Given the description of an element on the screen output the (x, y) to click on. 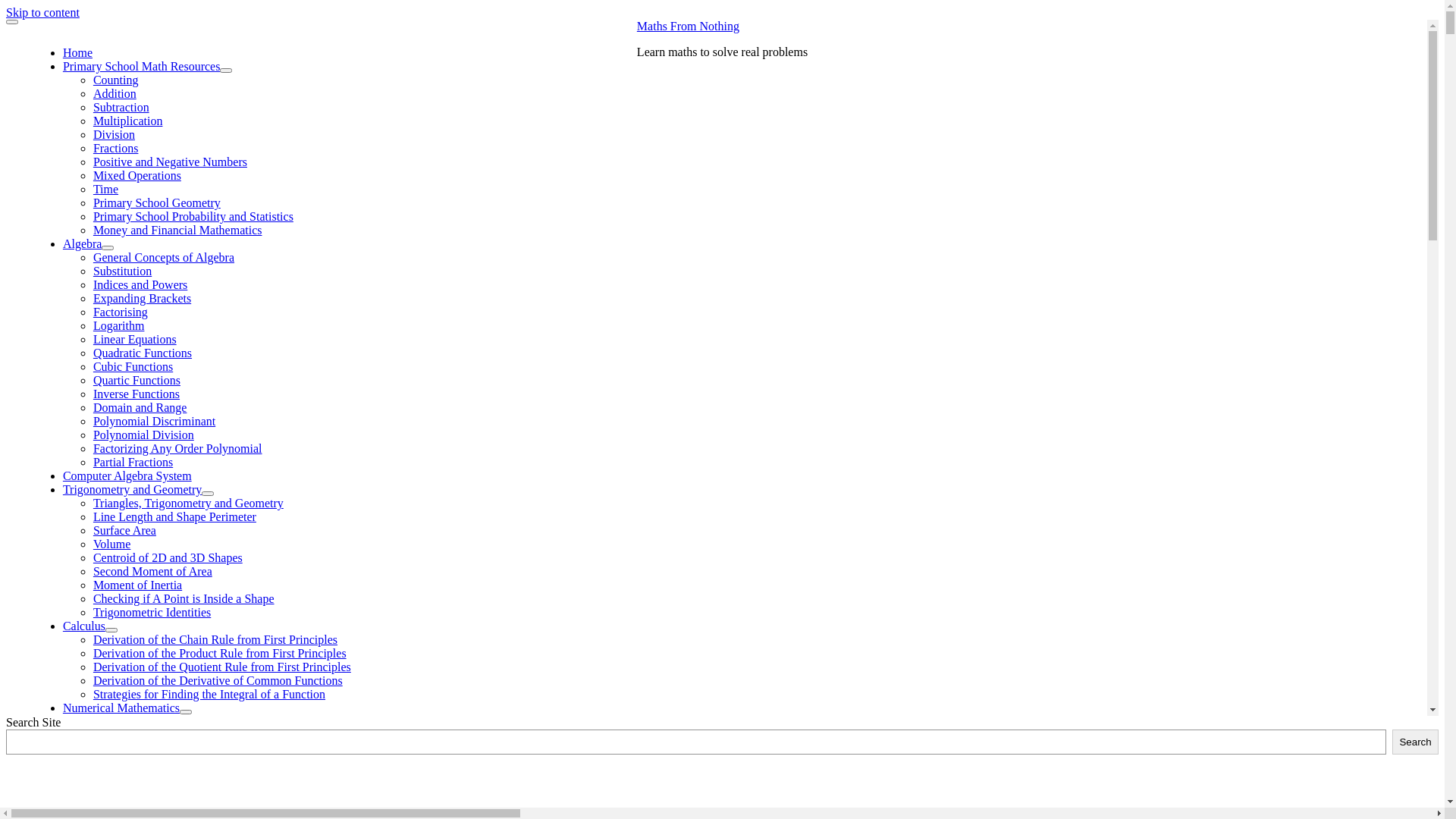
open child menu Element type: text (225, 70)
Derivation of the Product Rule from First Principles Element type: text (219, 652)
Surface Area Element type: text (124, 530)
Secant and Quasi-Newton methods Element type: text (208, 748)
Trigonometric Identities Element type: text (151, 611)
Factorising Element type: text (120, 311)
open child menu Element type: text (111, 629)
Regula Falsi or False Position Method Element type: text (216, 803)
Multiplication Element type: text (128, 120)
Counting Element type: text (115, 79)
Primary School Geometry Element type: text (156, 202)
Moment of Inertia Element type: text (137, 584)
Search Element type: text (1415, 741)
open child menu Element type: text (185, 711)
Triangles, Trigonometry and Geometry Element type: text (188, 502)
open child menu Element type: text (263, 725)
Expanding Brackets Element type: text (142, 297)
Derivation of the Derivative of Common Functions Element type: text (217, 680)
Derivation of the Quotient Rule from First Principles Element type: text (222, 666)
Factorizing Any Order Polynomial Element type: text (177, 448)
Fixed Point Iteration Element type: text (173, 775)
Logarithm Element type: text (118, 325)
open primary menu Element type: text (12, 21)
Cubic Functions Element type: text (132, 366)
open child menu Element type: text (107, 247)
Substitution Element type: text (122, 270)
Mixed Operations Element type: text (137, 175)
Money and Financial Mathematics Element type: text (177, 229)
Primary School Math Resources Element type: text (141, 65)
Positive and Negative Numbers Element type: text (170, 161)
Indices and Powers Element type: text (140, 284)
Quartic Functions Element type: text (136, 379)
Computer Algebra System Element type: text (126, 475)
Bisection Method Element type: text (166, 789)
Line Search for Root Finding Methods Element type: text (217, 762)
Partial Fractions Element type: text (132, 461)
Numerical Root Finding Methods Element type: text (175, 721)
Checking if A Point is Inside a Shape Element type: text (183, 598)
Quadratic Functions Element type: text (142, 352)
Line Length and Shape Perimeter Element type: text (174, 516)
Polynomial Discriminant Element type: text (154, 420)
Addition Element type: text (114, 93)
Inverse Functions Element type: text (136, 393)
Primary School Probability and Statistics Element type: text (193, 216)
Division Element type: text (113, 134)
Fractions Element type: text (115, 147)
Maths From Nothing Element type: text (688, 25)
Subtraction Element type: text (121, 106)
Derivation of the Chain Rule from First Principles Element type: text (215, 639)
Linear Equations Element type: text (134, 338)
Polynomial Division Element type: text (143, 434)
Skip to content Element type: text (42, 12)
Newtons Method Element type: text (165, 734)
Trigonometry and Geometry Element type: text (131, 489)
open child menu Element type: text (207, 493)
Domain and Range Element type: text (140, 407)
Centroid of 2D and 3D Shapes Element type: text (167, 557)
Numerical Mathematics Element type: text (120, 707)
Calculus Element type: text (83, 625)
Volume Element type: text (111, 543)
General Concepts of Algebra Element type: text (163, 257)
Home Element type: text (77, 52)
Algebra Element type: text (82, 243)
Strategies for Finding the Integral of a Function Element type: text (209, 693)
Time Element type: text (105, 188)
Second Moment of Area Element type: text (152, 570)
